Given the description of an element on the screen output the (x, y) to click on. 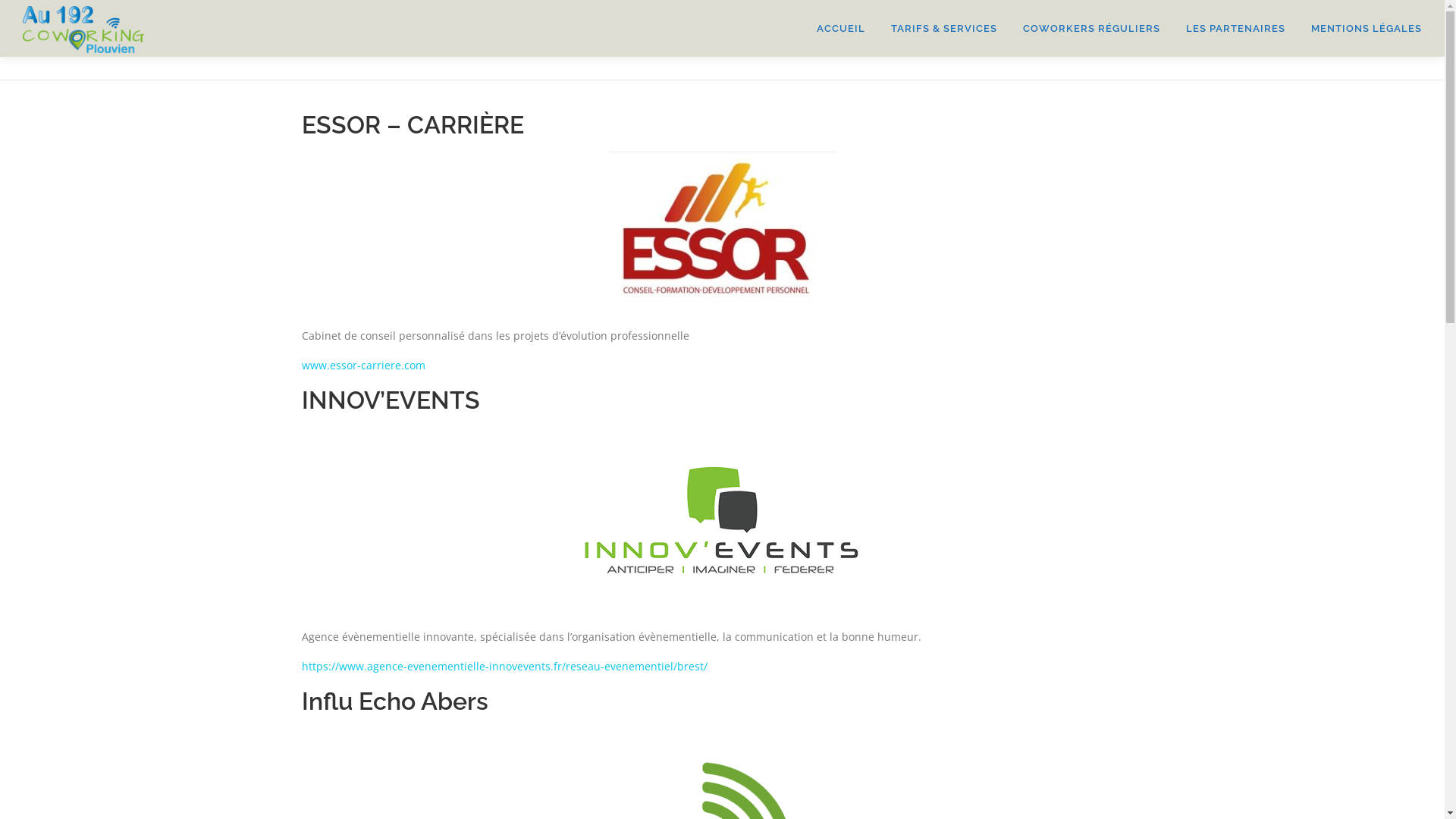
TARIFS & SERVICES Element type: text (944, 28)
www.essor-carriere.com Element type: text (363, 364)
LES PARTENAIRES Element type: text (1235, 28)
ACCUEIL Element type: text (840, 28)
